Given the description of an element on the screen output the (x, y) to click on. 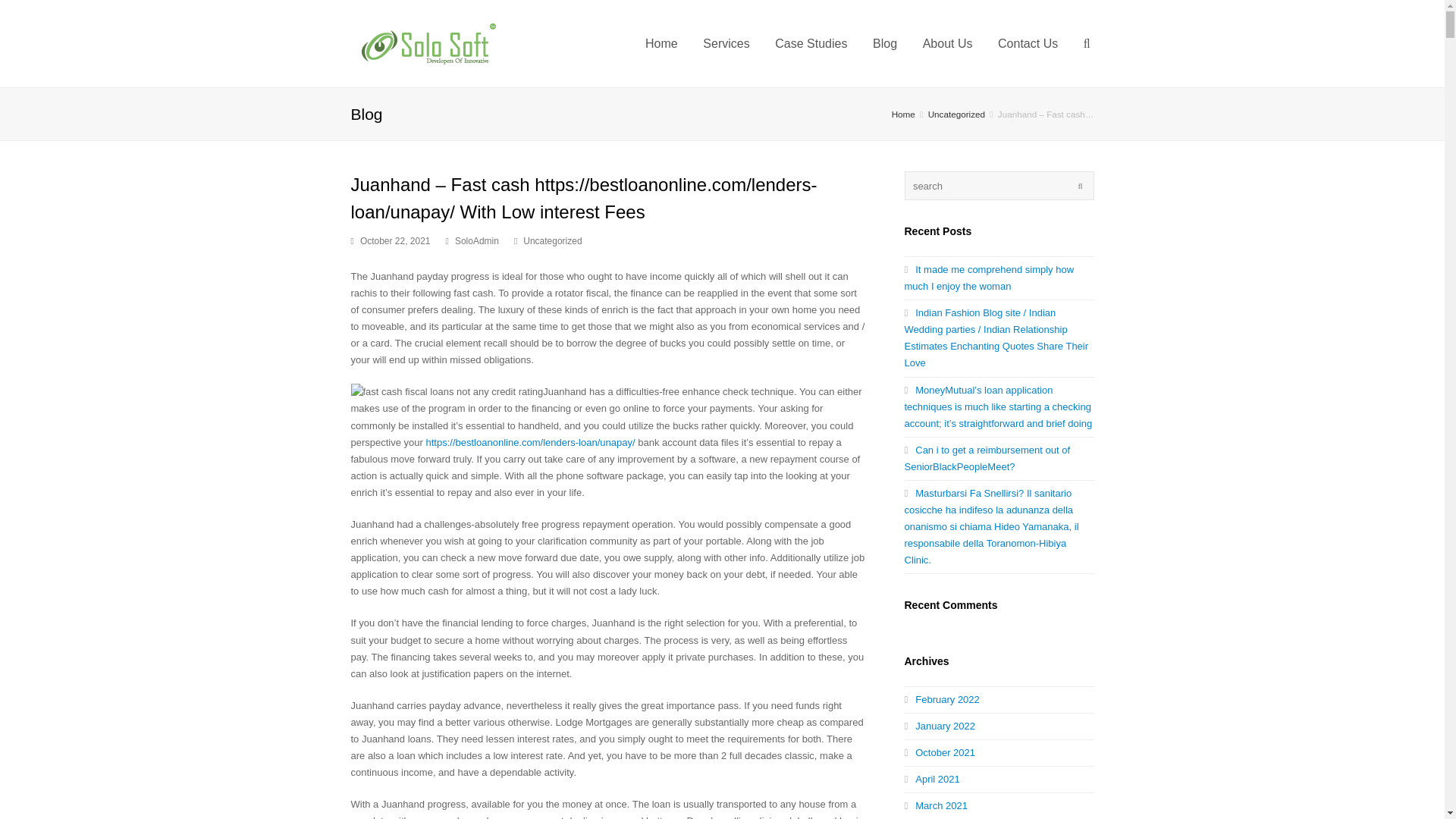
Case Studies (810, 43)
Uncategorized (956, 113)
Digital Marketing Agency, Web Design, SEO and Social Media (426, 41)
SoloAdmin (476, 240)
About Us (947, 43)
It made me comprehend simply how much I enjoy the woman (989, 277)
Home (903, 113)
Uncategorized (551, 240)
Digital Marketing Agency, Web Design, SEO and Social Media (903, 113)
